Given the description of an element on the screen output the (x, y) to click on. 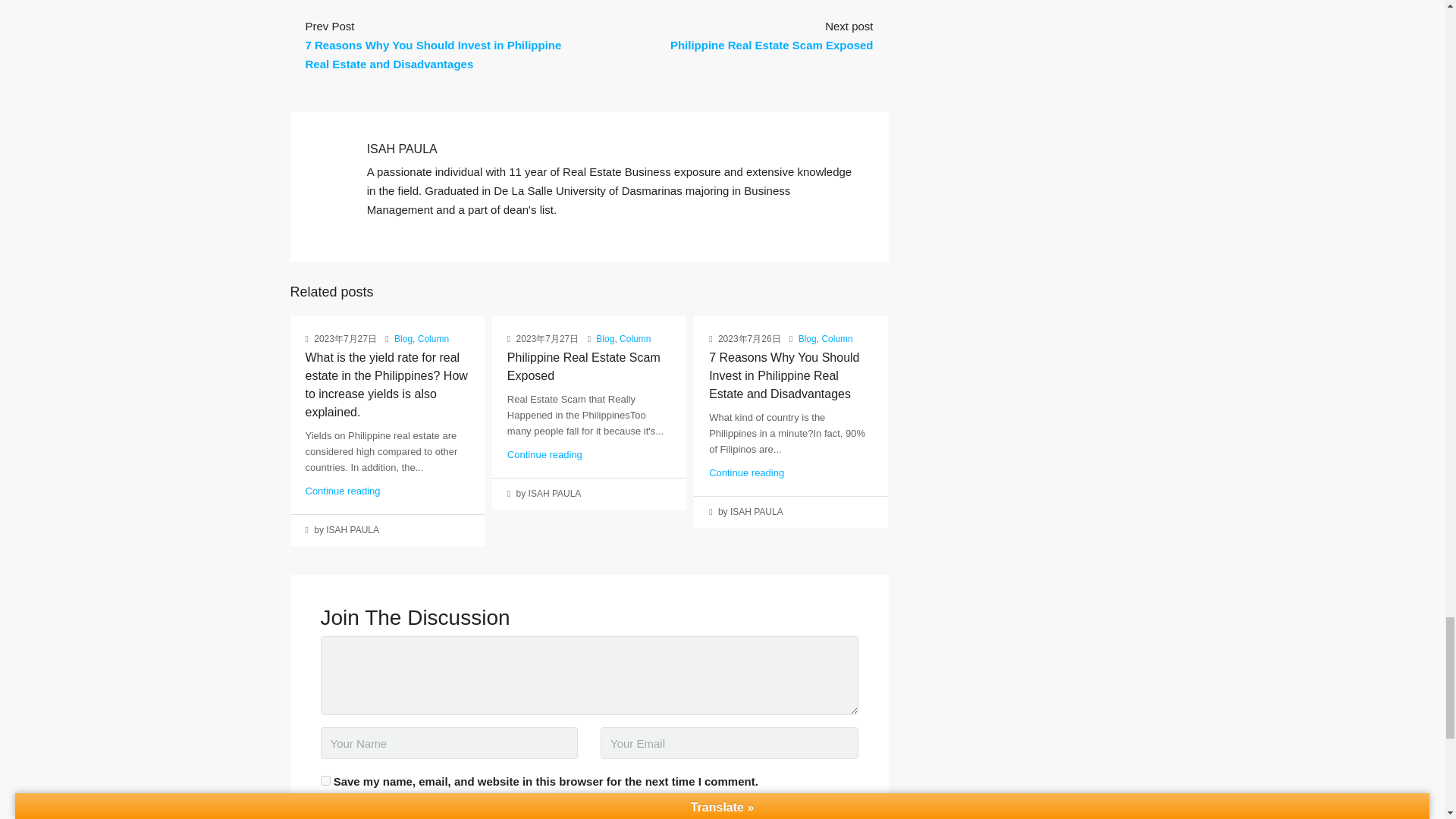
Philippine Real Estate Scam Exposed (771, 44)
Continue reading (342, 490)
Blog (403, 338)
Column (432, 338)
Continue reading (544, 454)
Blog (806, 338)
Philippine Real Estate Scam Exposed (583, 366)
Continue reading (746, 472)
Submit (339, 814)
